Given the description of an element on the screen output the (x, y) to click on. 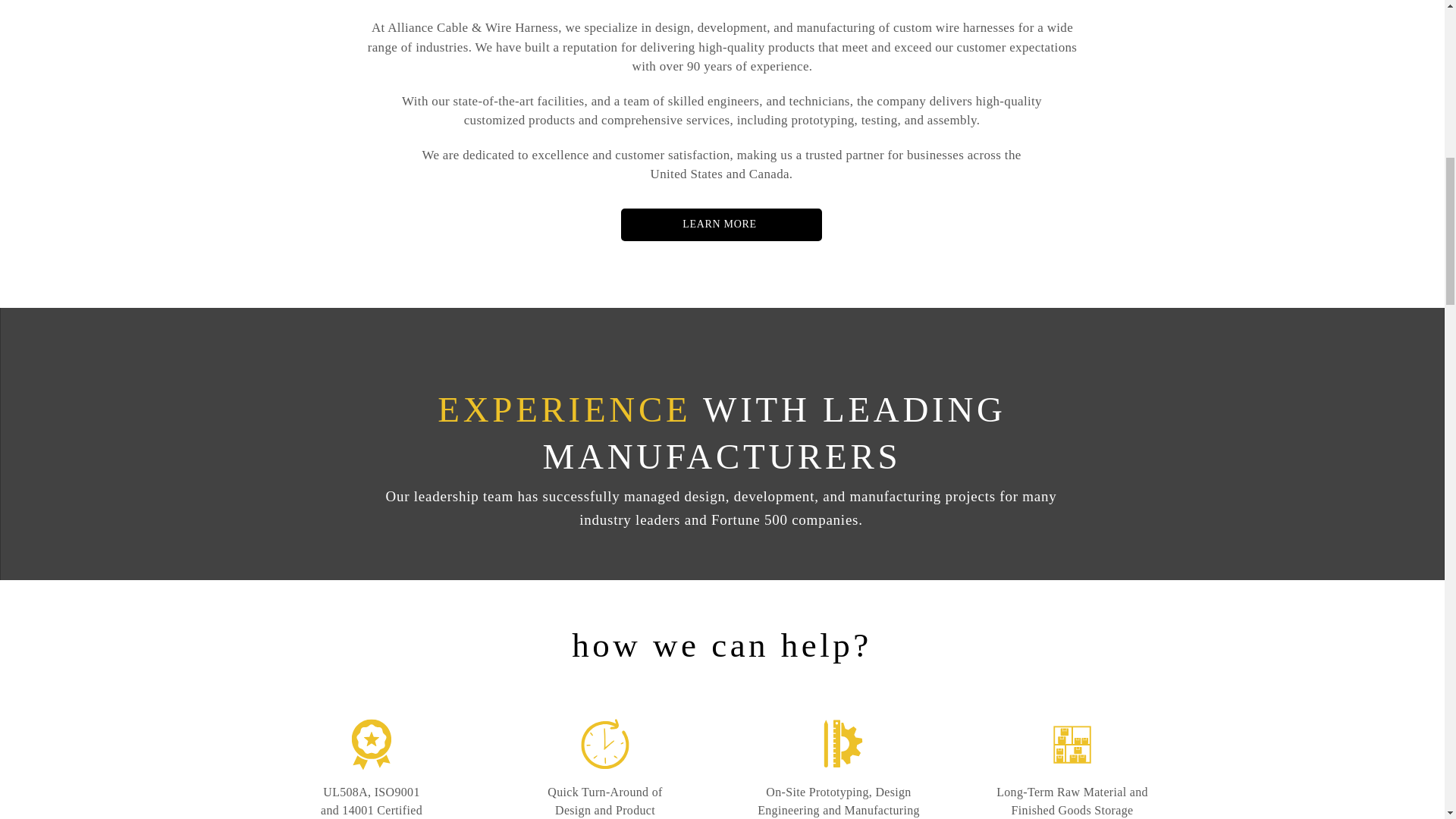
LEARN MORE (720, 224)
